Given the description of an element on the screen output the (x, y) to click on. 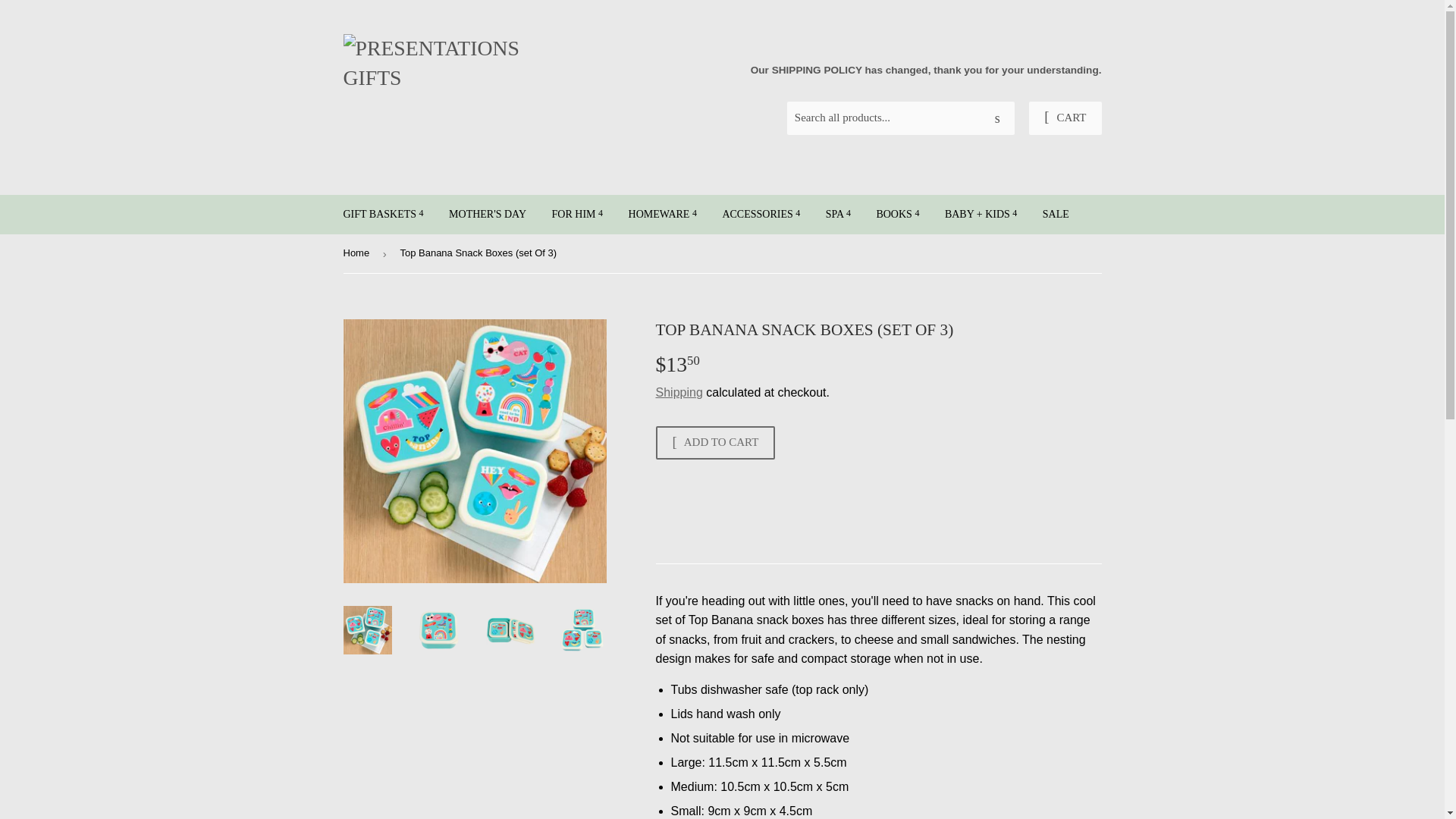
Search (996, 119)
CART (1064, 118)
